Given the description of an element on the screen output the (x, y) to click on. 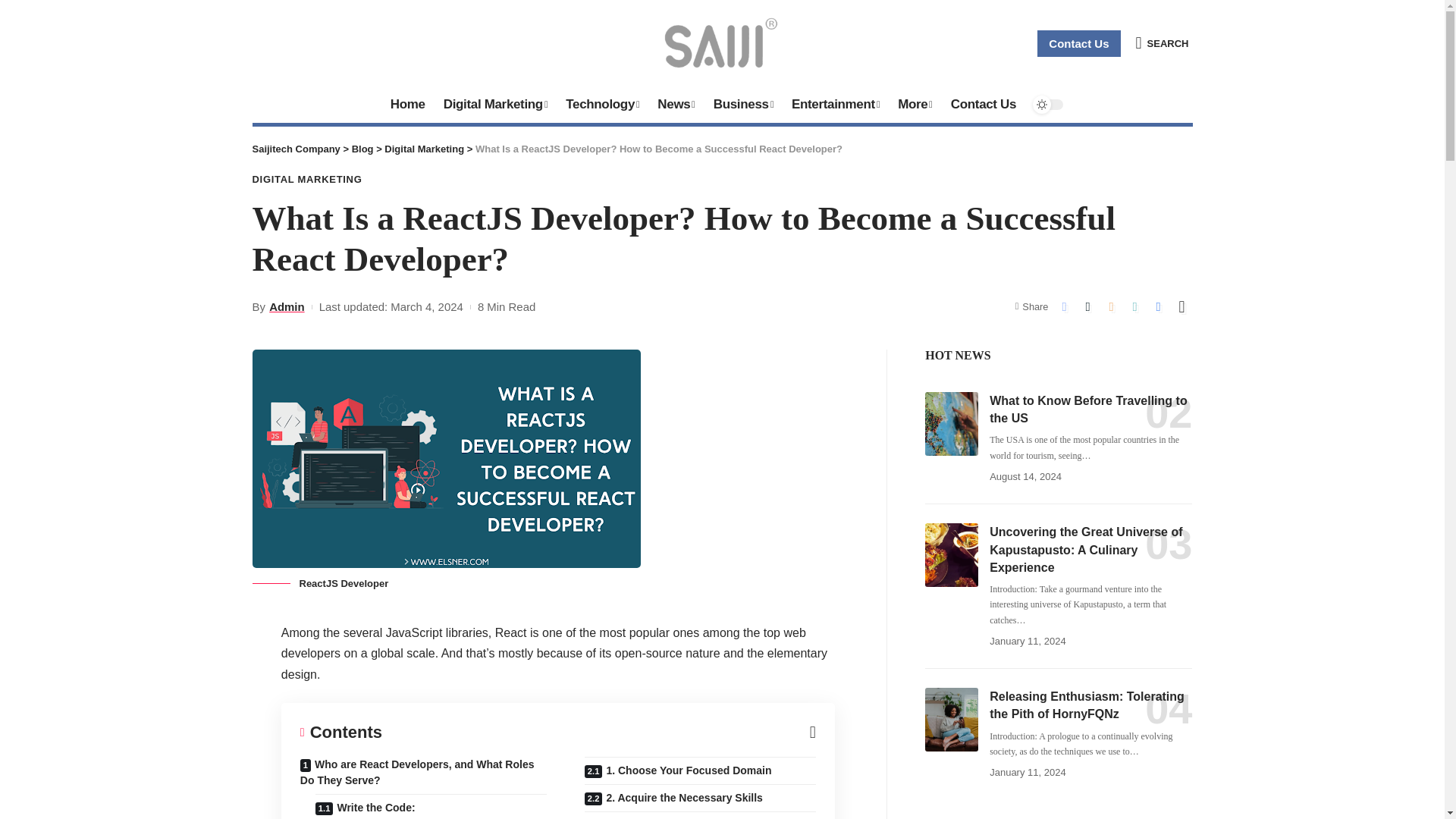
Home (407, 104)
Contact Us (1077, 43)
SEARCH (1162, 42)
Technology (601, 104)
Digital Marketing (495, 104)
News (675, 104)
